Given the description of an element on the screen output the (x, y) to click on. 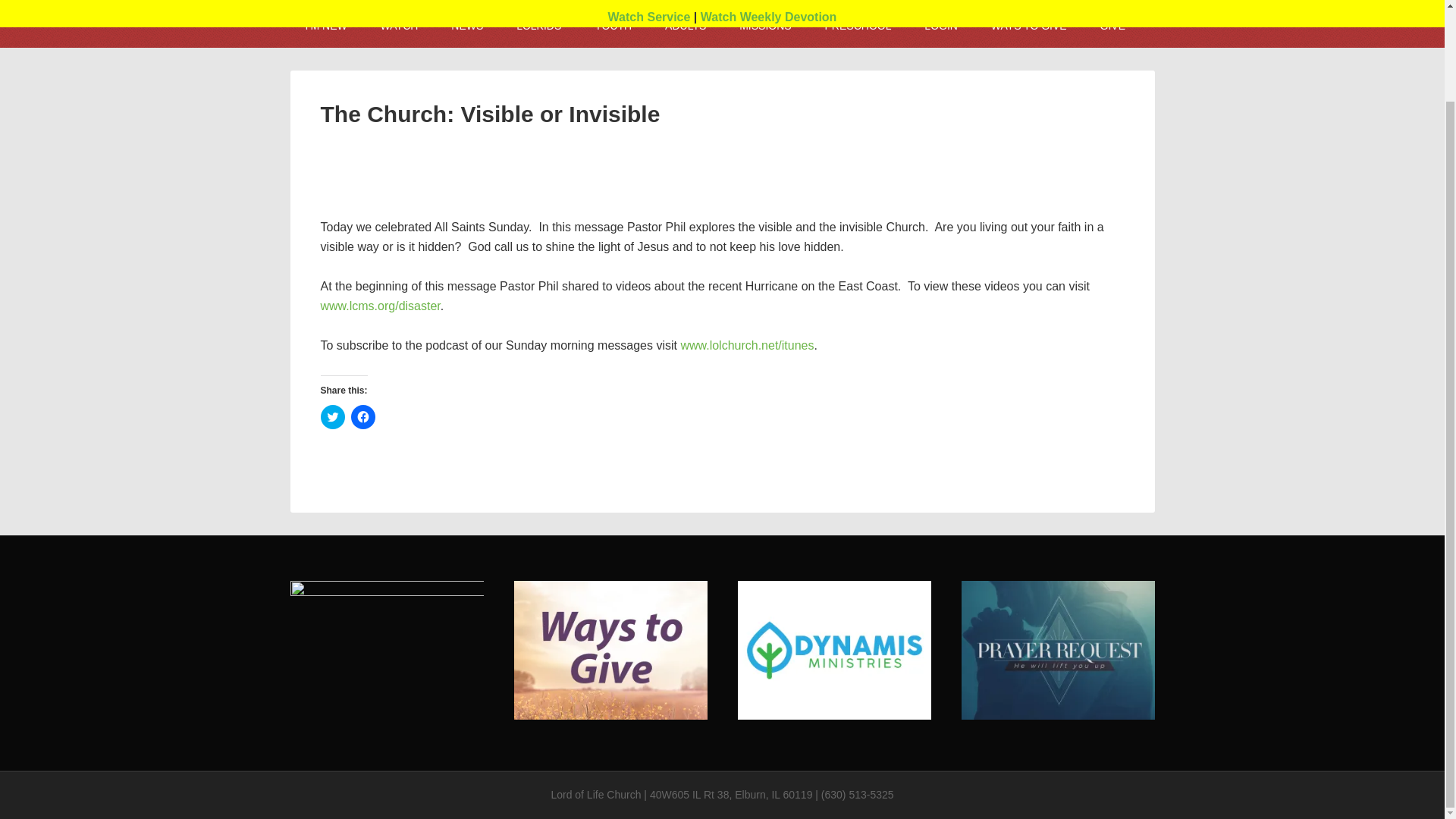
WATCH (399, 25)
MISSIONS (764, 25)
ADULTS (684, 25)
LOGIN (940, 25)
GIVE (1112, 25)
Click to share on Twitter (331, 416)
Lord of Life Church (595, 794)
PRESCHOOL (858, 25)
YOUTH (612, 25)
LOLKIDS (538, 25)
NEWS (466, 25)
Click to share on Facebook (362, 416)
WAYS TO GIVE (1028, 25)
